Given the description of an element on the screen output the (x, y) to click on. 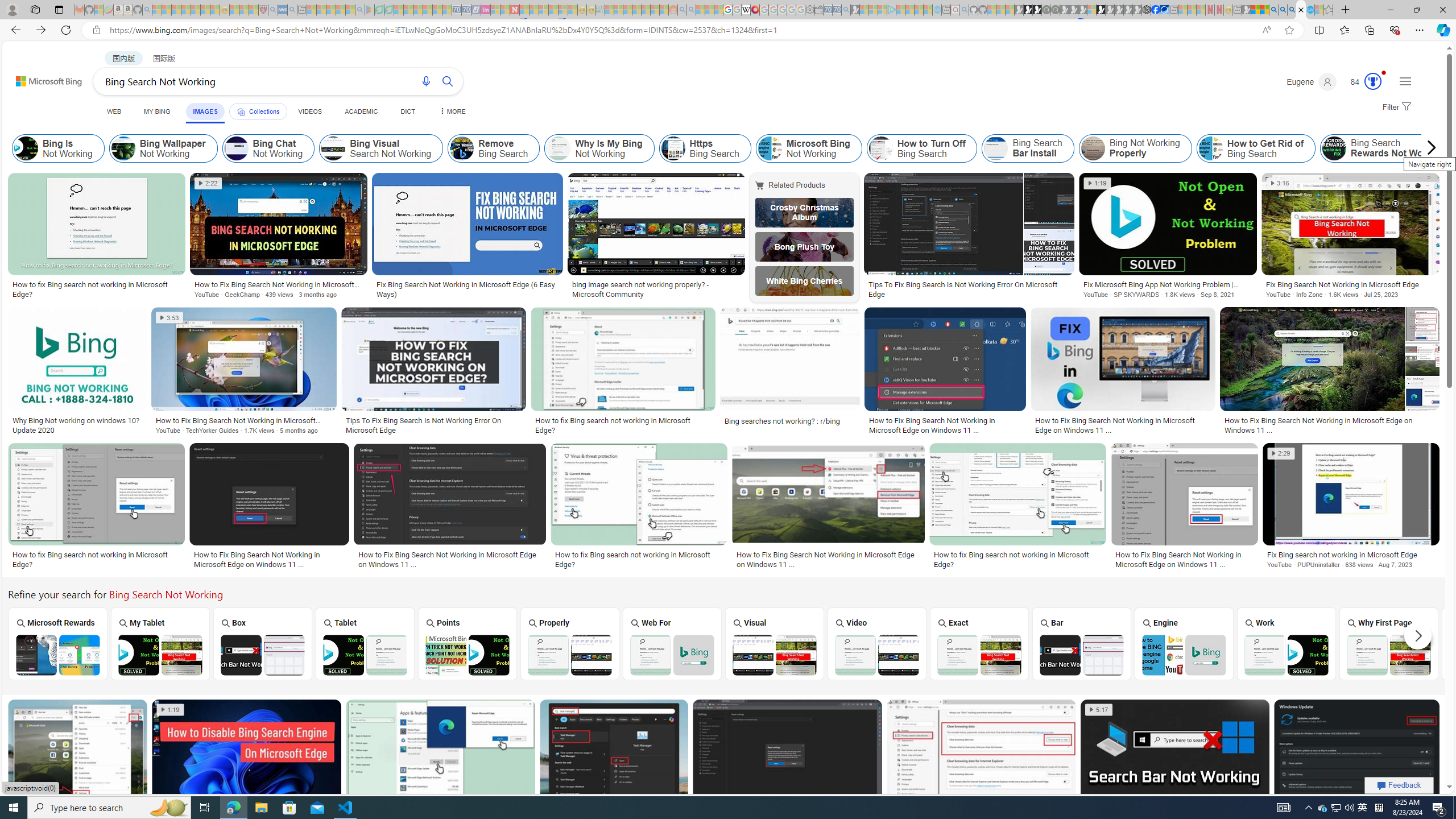
MSN - Sleeping (1246, 9)
Remove Bing Search (461, 148)
Why First Page of Bing Search Not Working Why First Page (1388, 643)
Https Bing Search (705, 148)
ACADEMIC (360, 111)
Bing Search Not Working Properly Properly (569, 643)
Kinda Frugal - MSN - Sleeping (645, 9)
Scroll more suggestions right (1418, 635)
How to fix Bing search not working in Microsoft Edge? (1017, 559)
New Report Confirms 2023 Was Record Hot | Watch - Sleeping (195, 9)
